Given the description of an element on the screen output the (x, y) to click on. 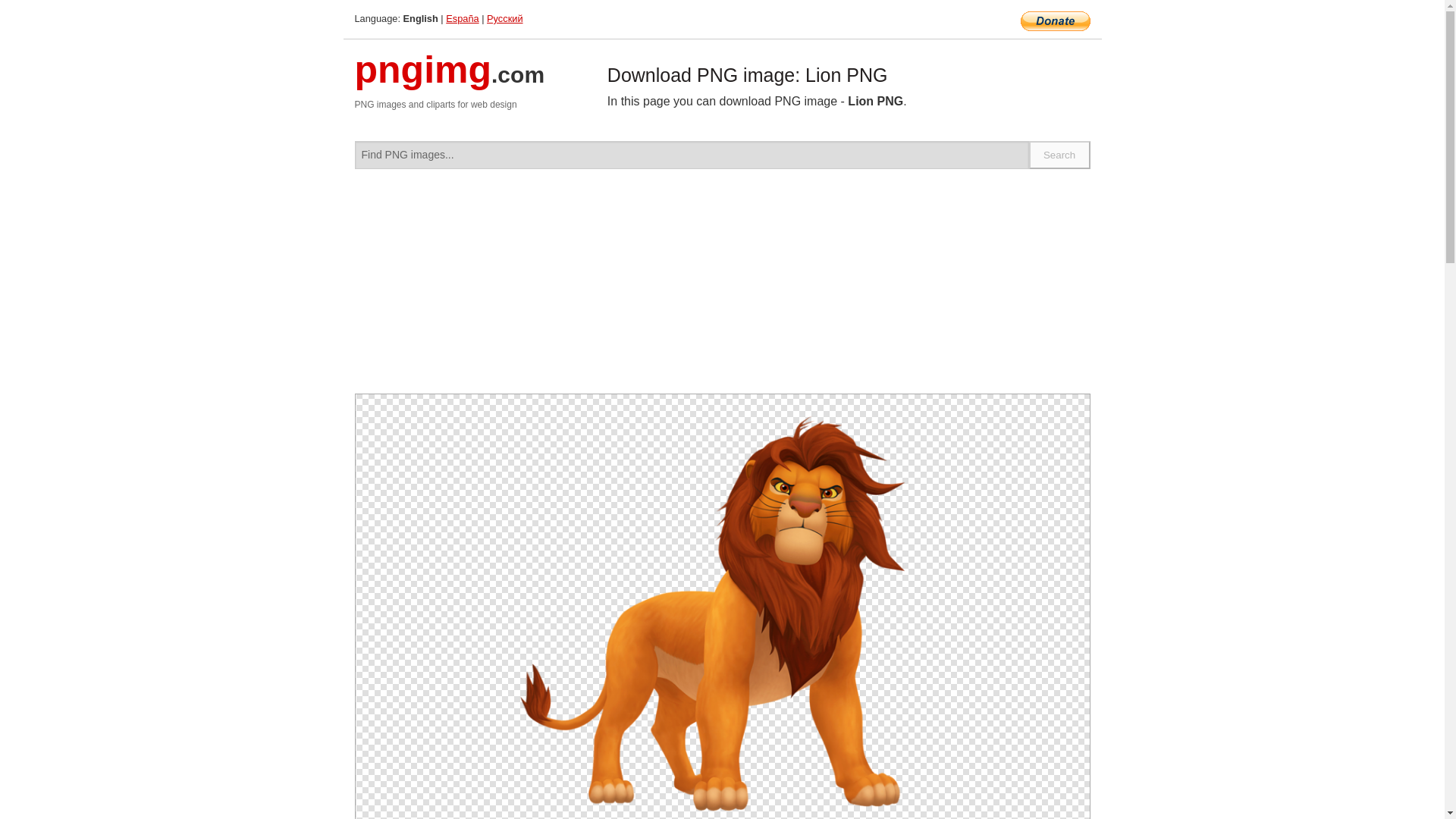
pngimg.com (449, 78)
Search (1059, 154)
Search (1059, 154)
